Given the description of an element on the screen output the (x, y) to click on. 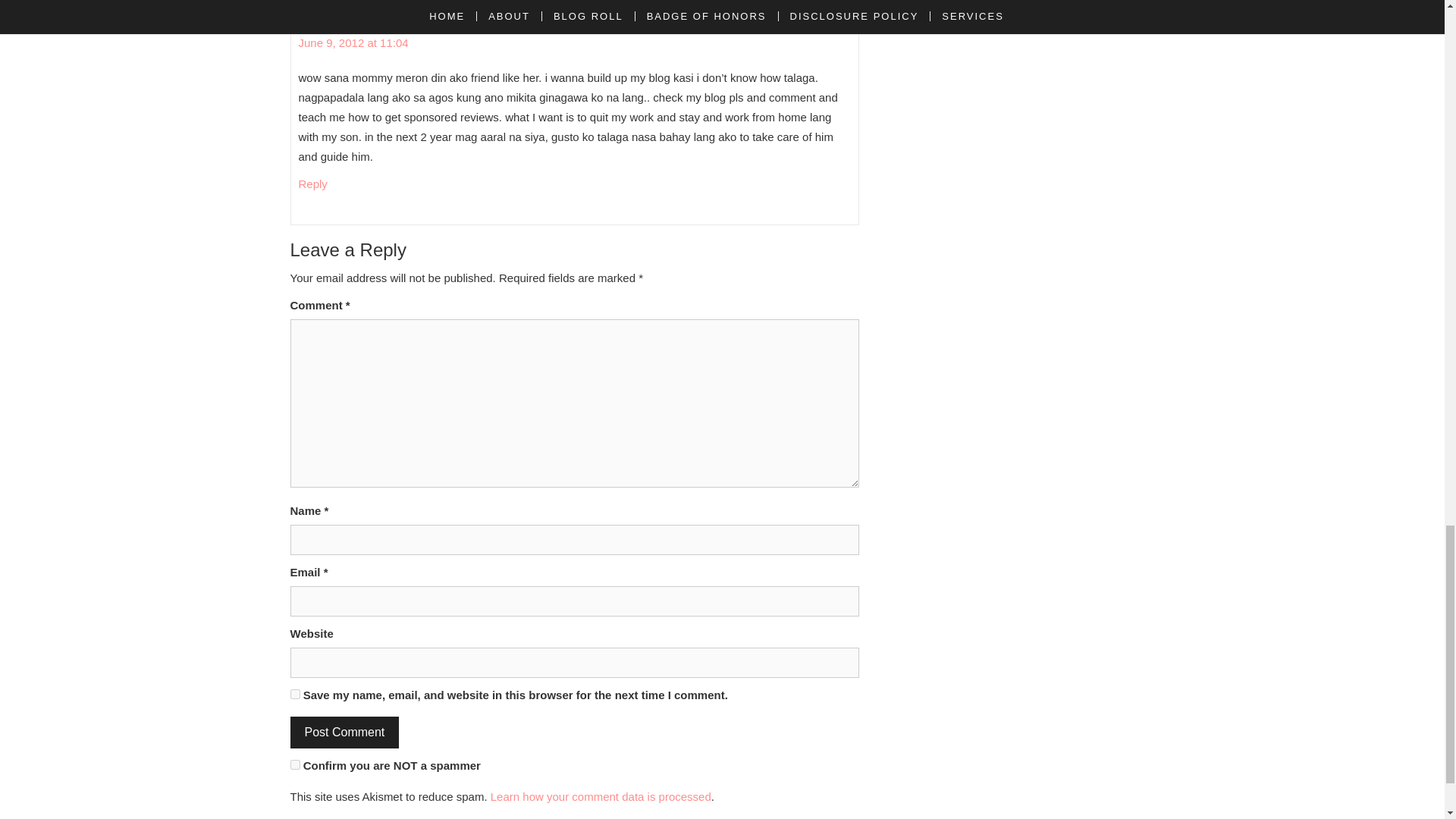
Pia (346, 5)
Reply (312, 183)
June 9, 2012 at 11:04 (353, 42)
yes (294, 694)
Post Comment (343, 732)
on (294, 764)
